Given the description of an element on the screen output the (x, y) to click on. 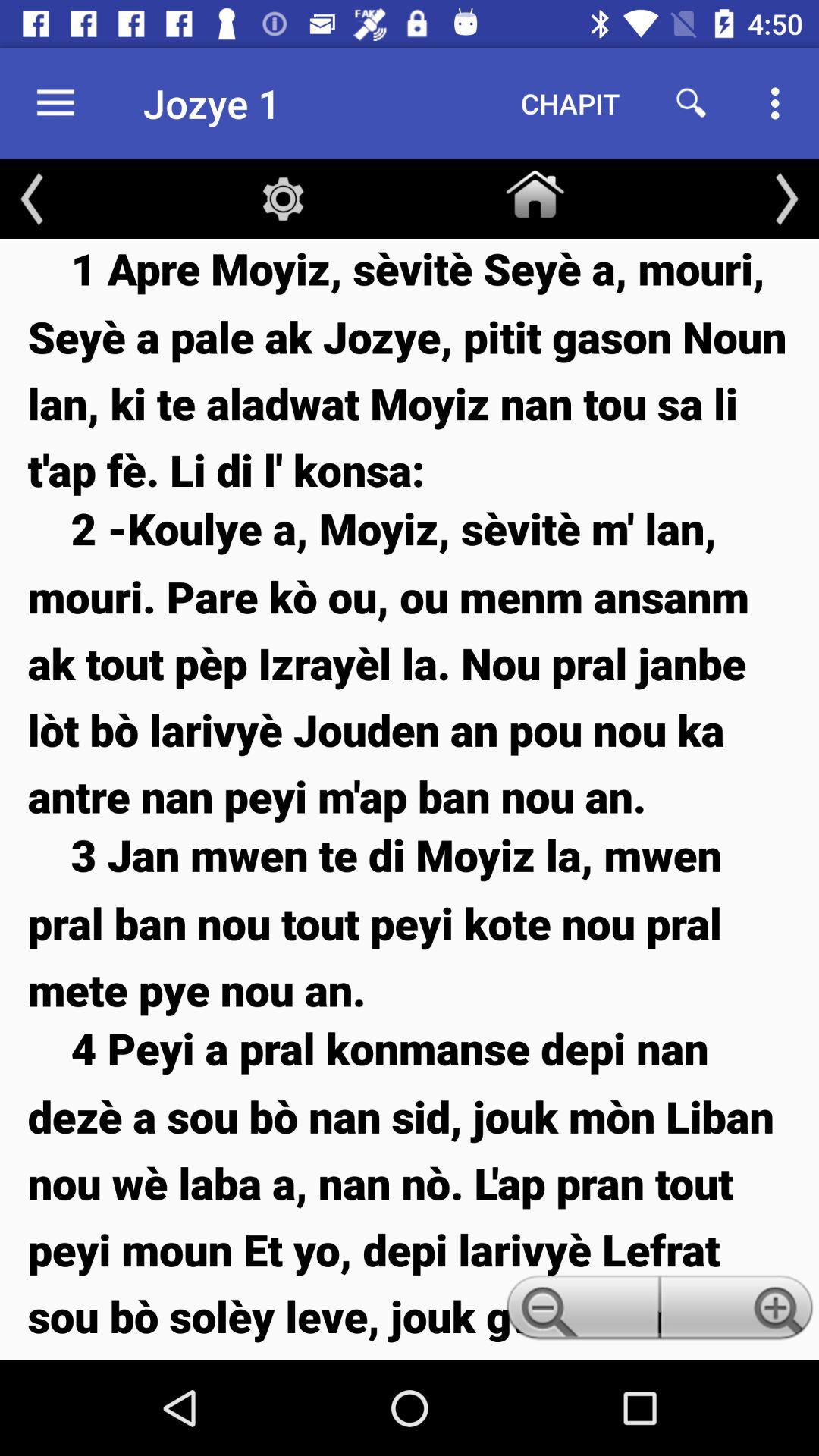
choose item below the 3 jan mwen icon (579, 1311)
